Given the description of an element on the screen output the (x, y) to click on. 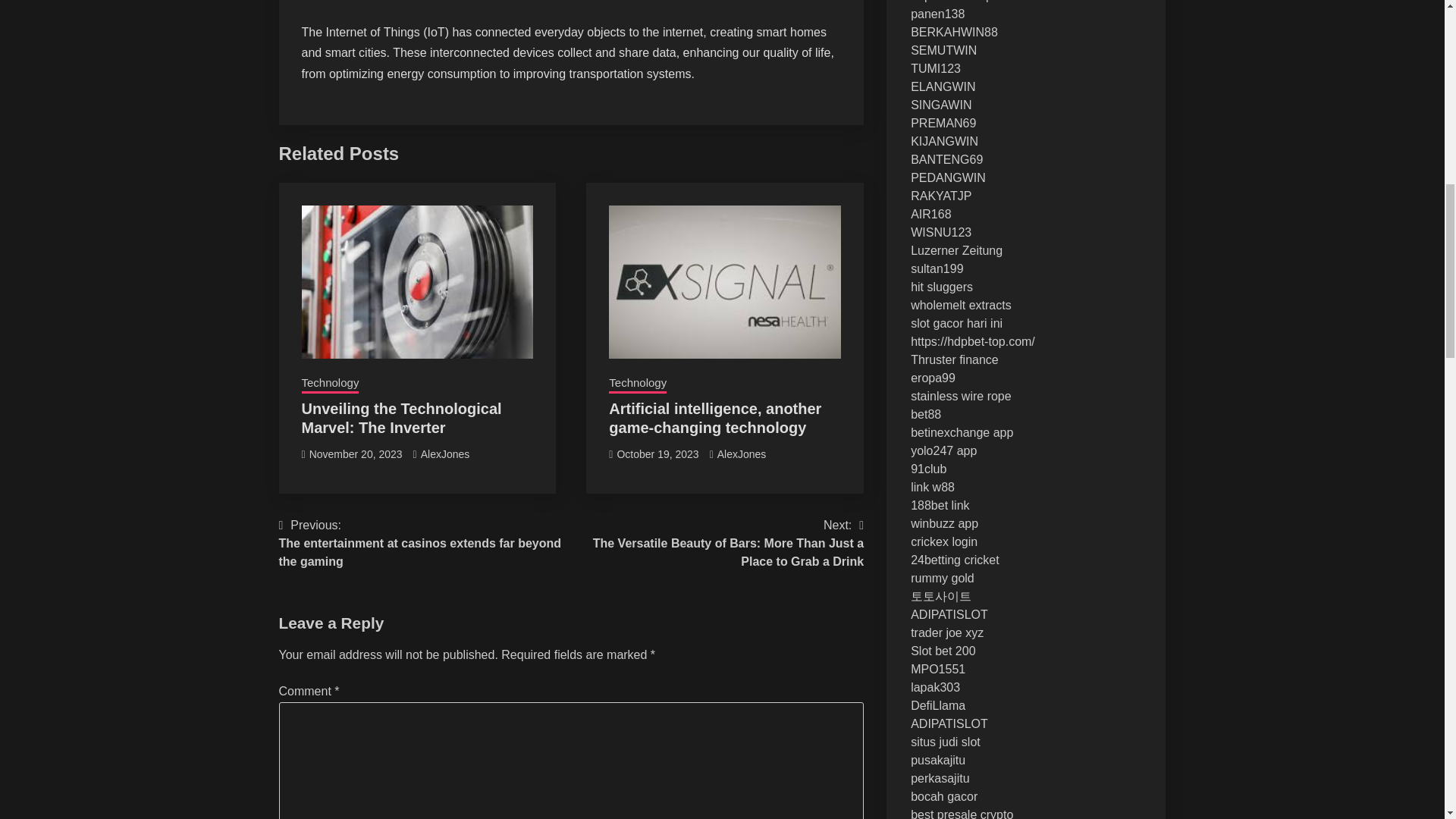
Unveiling the Technological Marvel: The Inverter (401, 417)
Technology (637, 383)
Artificial intelligence, another game-changing technology (714, 417)
Technology (330, 383)
November 20, 2023 (355, 453)
AlexJones (742, 453)
October 19, 2023 (656, 453)
AlexJones (445, 453)
